Given the description of an element on the screen output the (x, y) to click on. 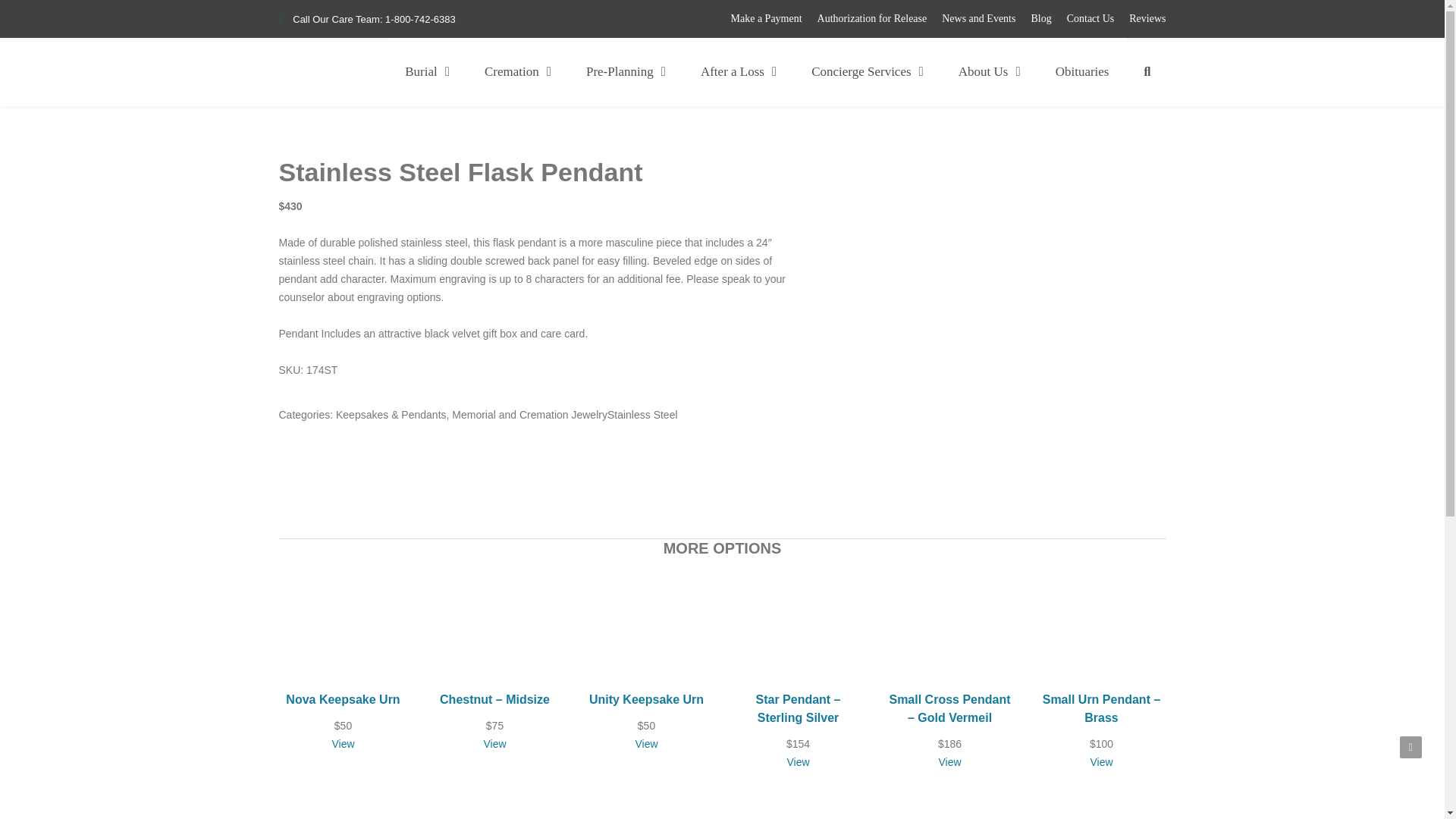
Contact Us (1091, 18)
Make a Payment (766, 18)
Burial (427, 71)
Pre-Planning (625, 71)
Reviews (1147, 18)
Authorization for Release (871, 18)
Cremation (518, 71)
News and Events (978, 18)
1-800-742-6383 (420, 19)
